Given the description of an element on the screen output the (x, y) to click on. 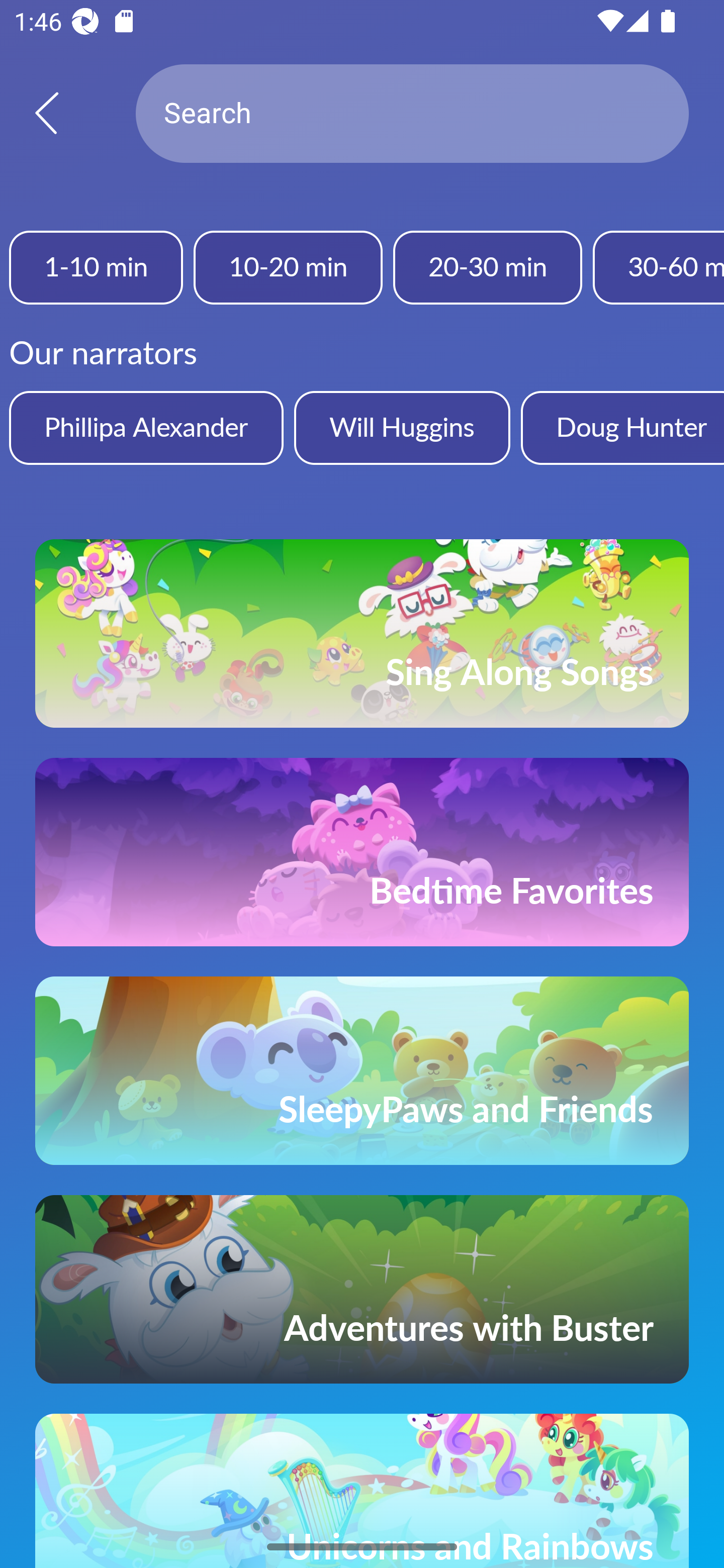
Search (412, 113)
1-10 min (95, 267)
10-20 min (287, 267)
20-30 min (487, 267)
30-60 min (658, 267)
Phillipa Alexander (145, 427)
Will Huggins (401, 427)
Doug Hunter (622, 427)
Sing Along Songs (361, 633)
Bedtime Favorites (361, 852)
SleepyPaws and Friends (361, 1070)
Adventures with Buster (361, 1288)
Unicorns and Rainbows (361, 1491)
